Given the description of an element on the screen output the (x, y) to click on. 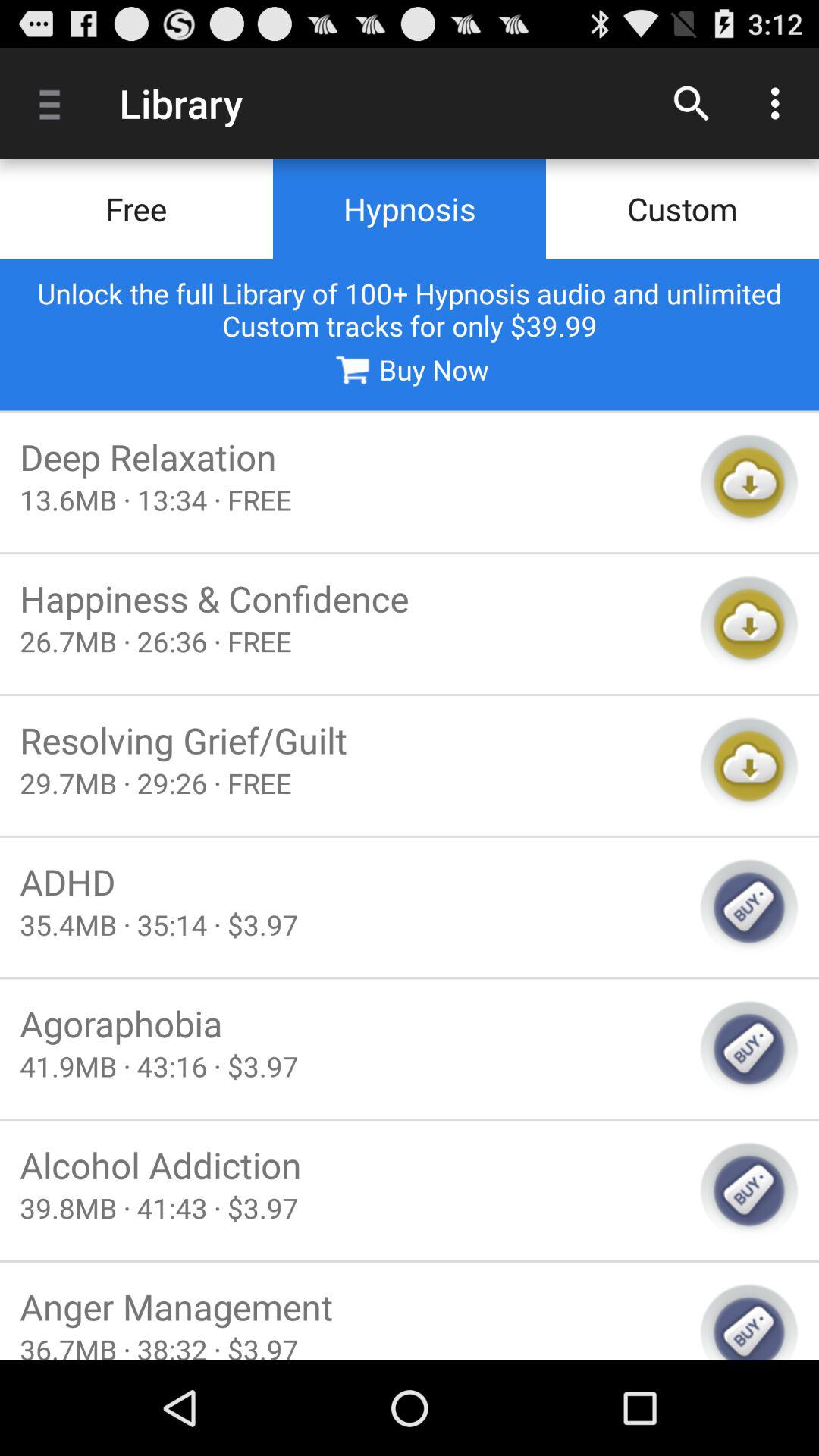
turn off icon above buy now icon (409, 309)
